Given the description of an element on the screen output the (x, y) to click on. 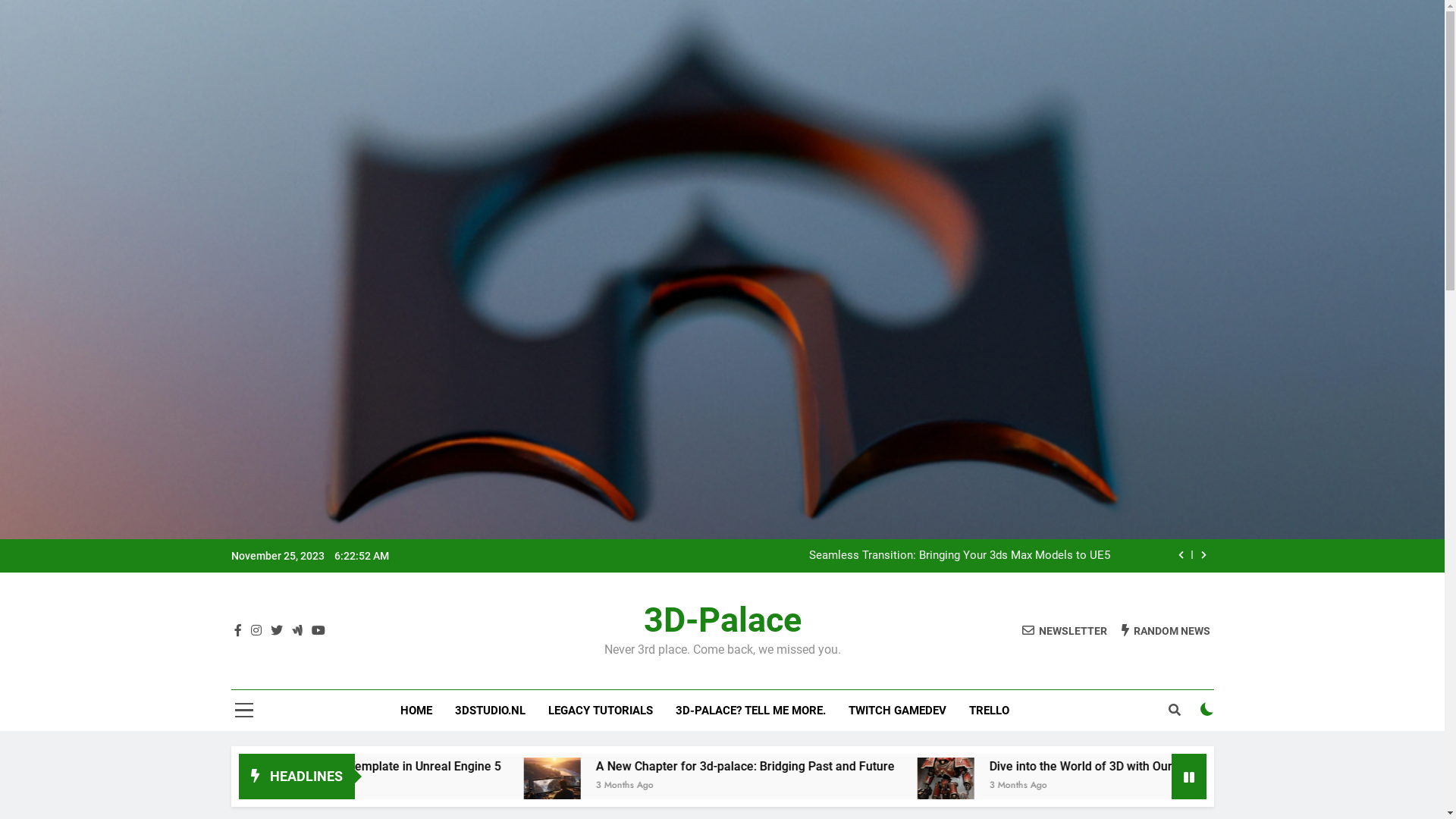
RANDOM NEWS Element type: text (1164, 630)
HOME Element type: text (416, 710)
3 Months Ago Element type: text (619, 783)
3D-Palace Element type: text (721, 619)
Seamless Transition: Bringing Your 3ds Max Models to UE5 Element type: text (353, 766)
TWITCH GAMEDEV Element type: text (897, 710)
Creating a Reusable Template in Unreal Engine 5 Element type: text (727, 766)
LEGACY TUTORIALS Element type: text (600, 710)
TRELLO Element type: text (988, 710)
A New Chapter for 3d-palace: Bridging Past and Future Element type: hover (641, 785)
3D-PALACE? TELL ME MORE. Element type: text (750, 710)
A New Chapter for 3d-palace: Bridging Past and Future Element type: hover (638, 785)
3DSTUDIO.NL Element type: text (489, 710)
3 Months Ago Element type: text (965, 783)
A New Chapter for 3d-palace: Bridging Past and Future Element type: text (1090, 766)
NEWSLETTER Element type: text (1064, 630)
A New Chapter for 3d-palace: Bridging Past and Future Element type: text (818, 555)
